Given the description of an element on the screen output the (x, y) to click on. 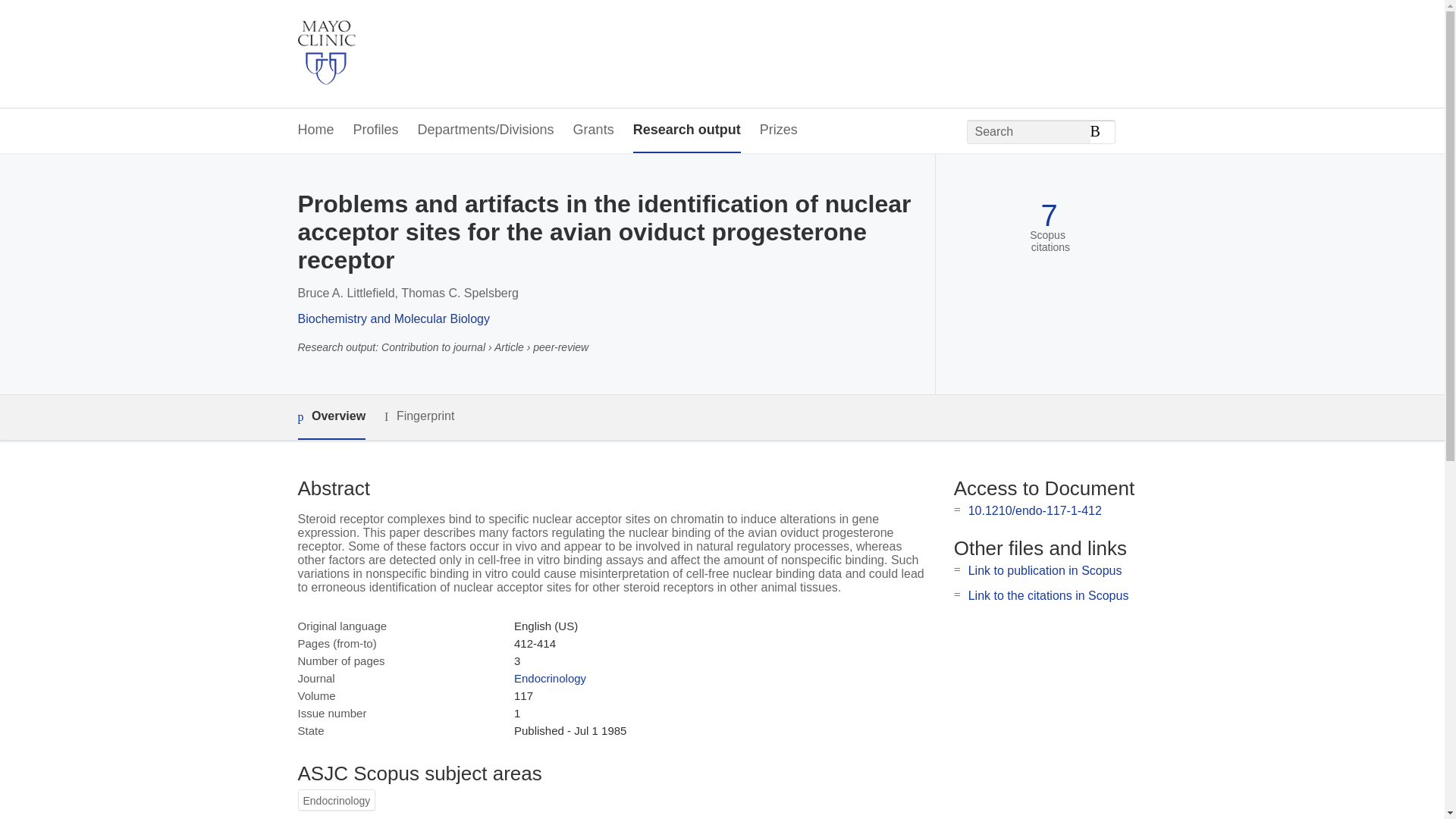
Research output (687, 130)
Link to the citations in Scopus (1048, 594)
Fingerprint (419, 416)
Link to publication in Scopus (1045, 570)
Biochemistry and Molecular Biology (393, 318)
Endocrinology (549, 677)
Grants (593, 130)
Profiles (375, 130)
Overview (331, 416)
